Given the description of an element on the screen output the (x, y) to click on. 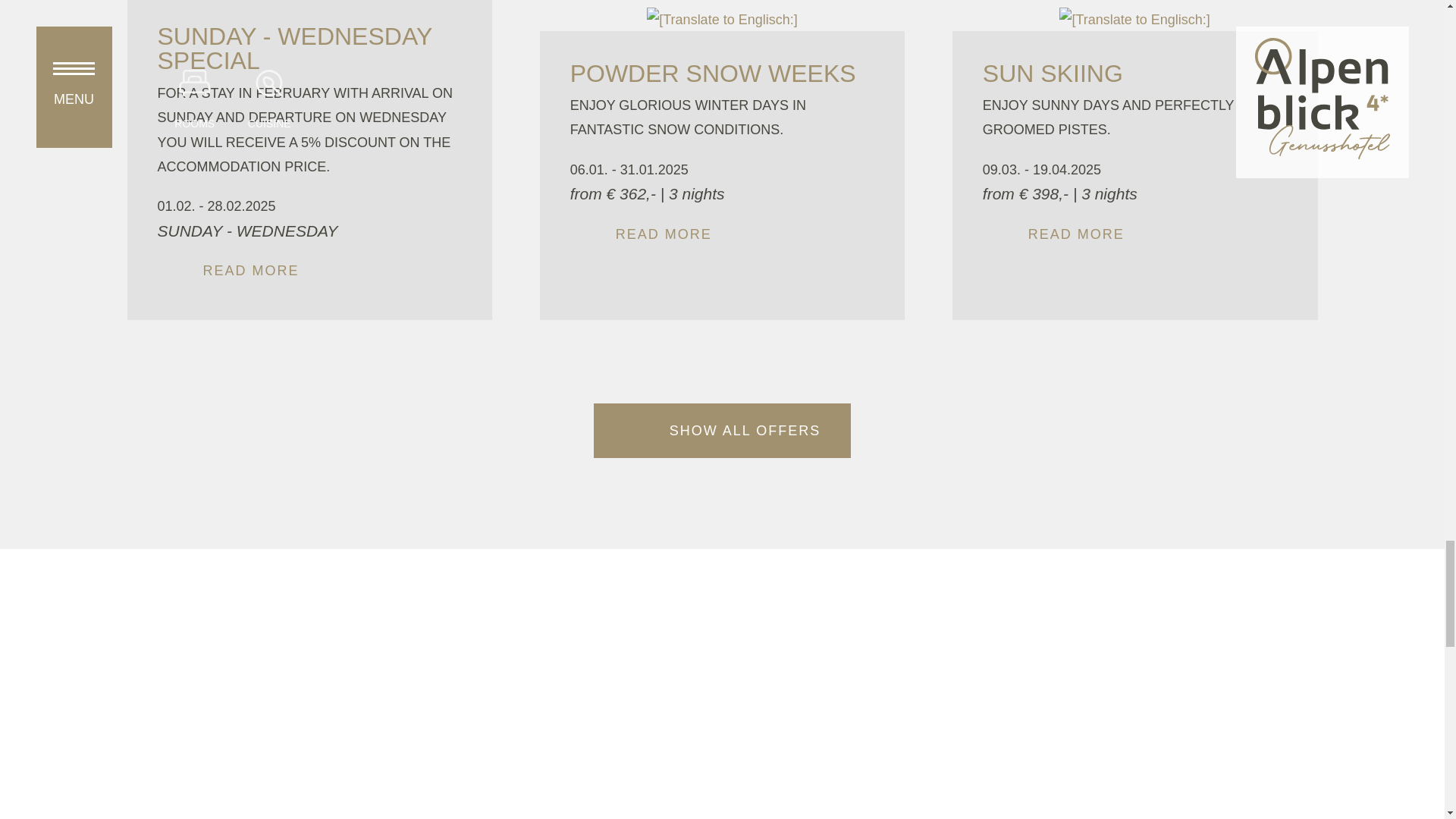
SUNDAY - WEDNESDAY SPECIAL (309, 18)
SUNDAY - WEDNESDAY SPECIAL (294, 48)
READ MORE (310, 270)
